Given the description of an element on the screen output the (x, y) to click on. 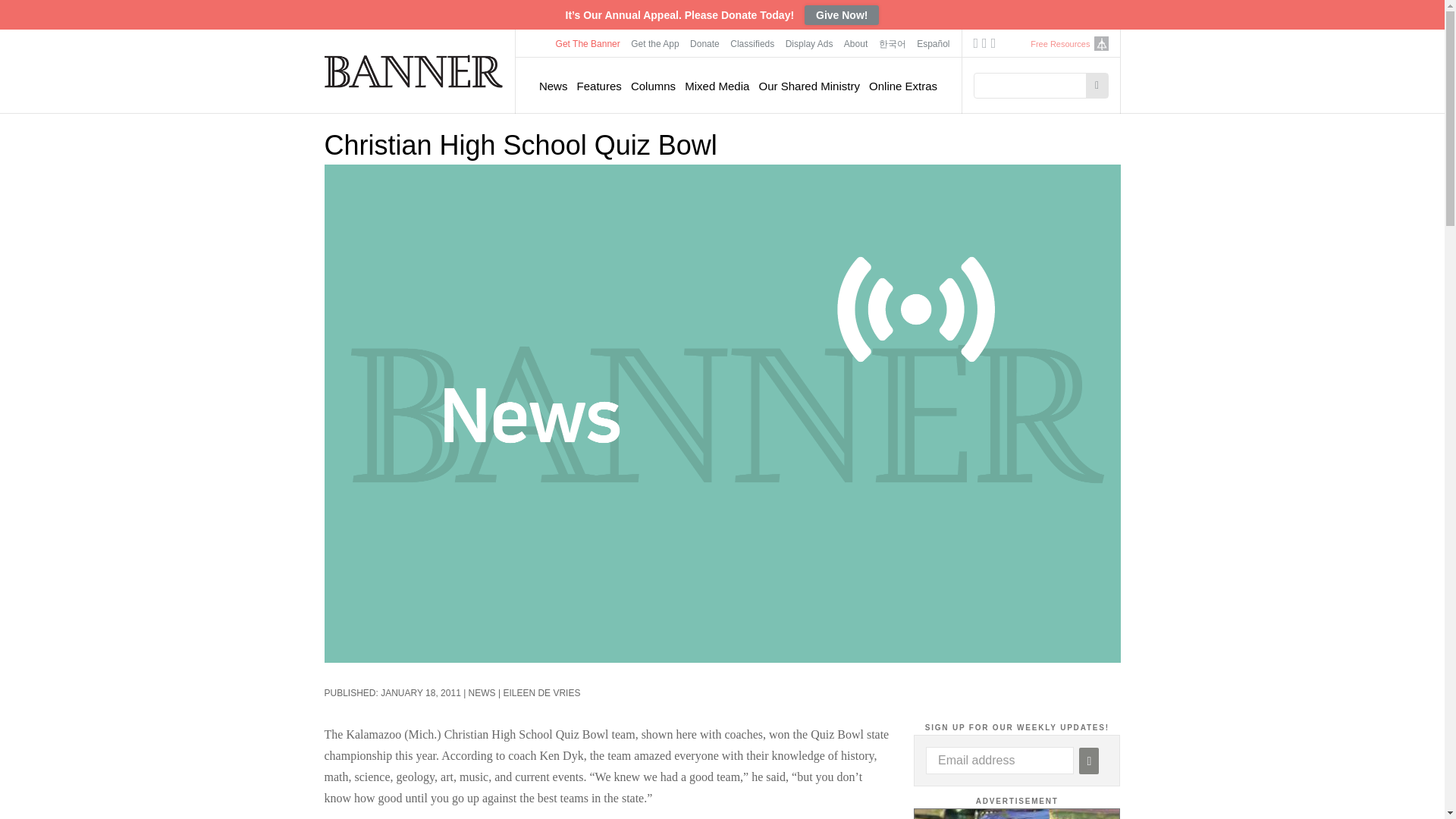
Free Resources (1059, 44)
Display Ads (809, 43)
Mixed Media (716, 85)
NEWS (482, 692)
Get The Banner (587, 43)
Our Shared Ministry (809, 85)
Home (413, 70)
News (552, 85)
Donate (704, 43)
Enter the terms you wish to search for. (1035, 85)
